Given the description of an element on the screen output the (x, y) to click on. 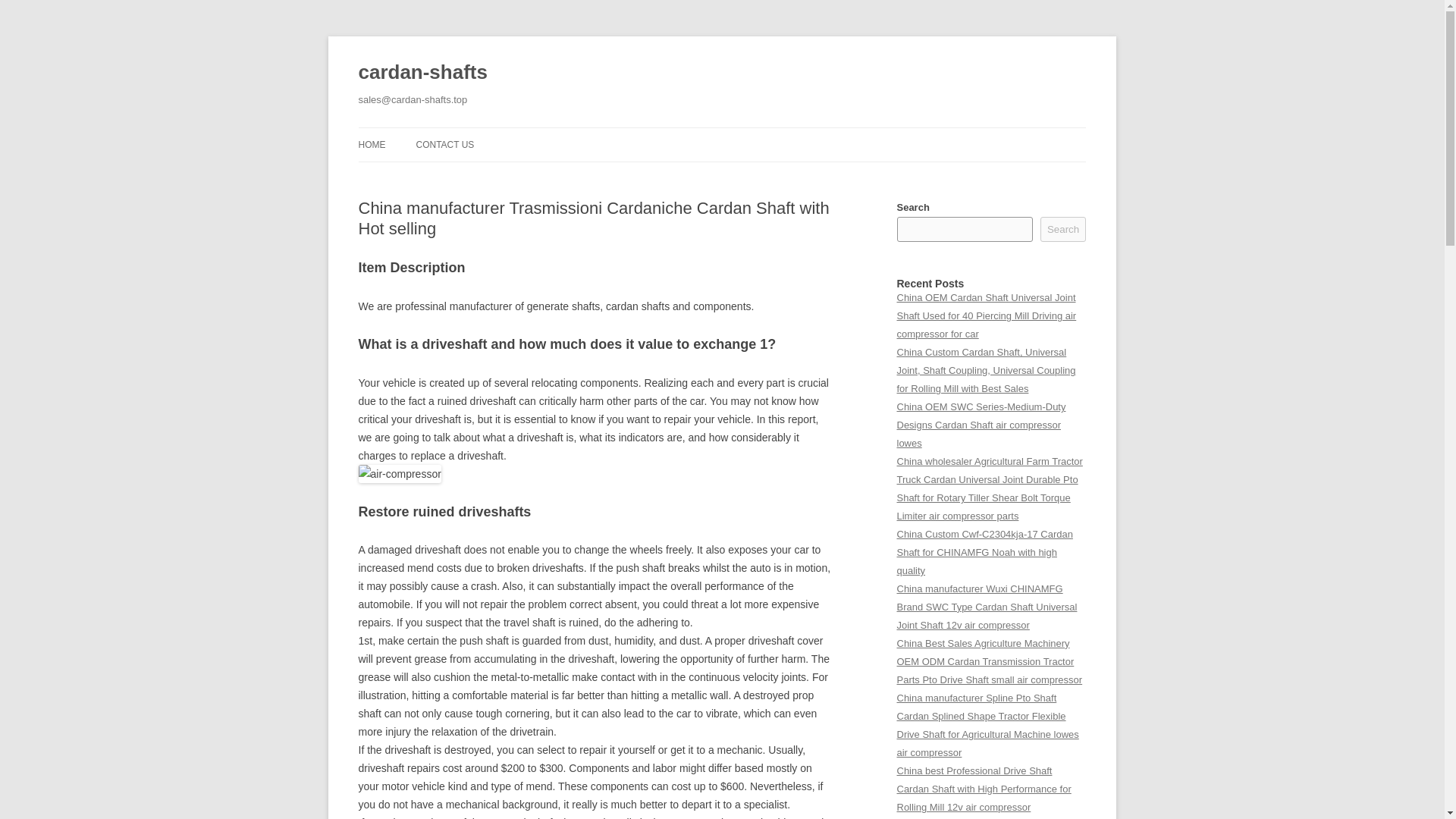
CONTACT US (444, 144)
cardan-shafts (422, 72)
cardan-shafts (422, 72)
HOME (371, 144)
Search (1063, 229)
